Given the description of an element on the screen output the (x, y) to click on. 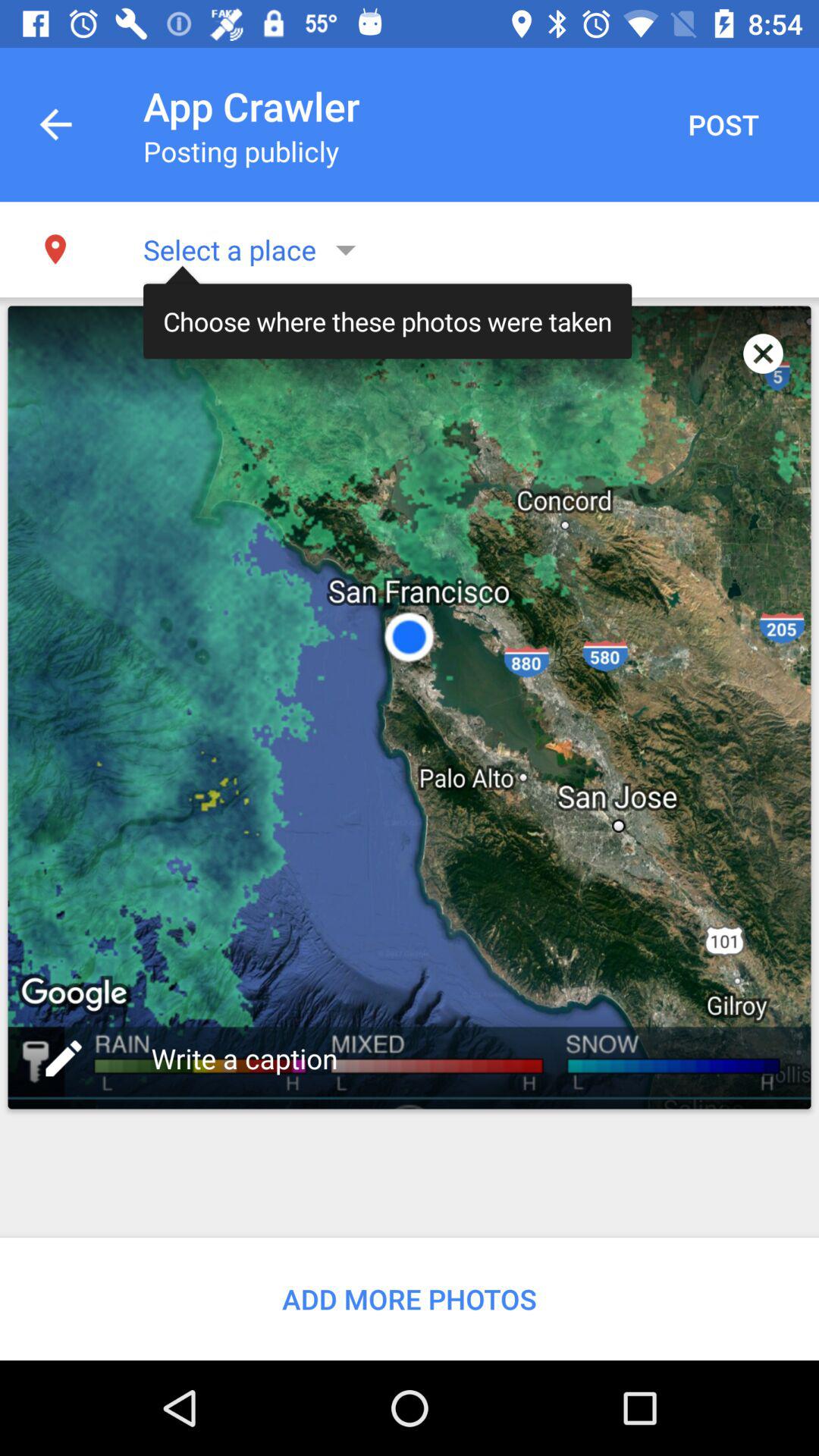
flip to add more photos item (409, 1298)
